Given the description of an element on the screen output the (x, y) to click on. 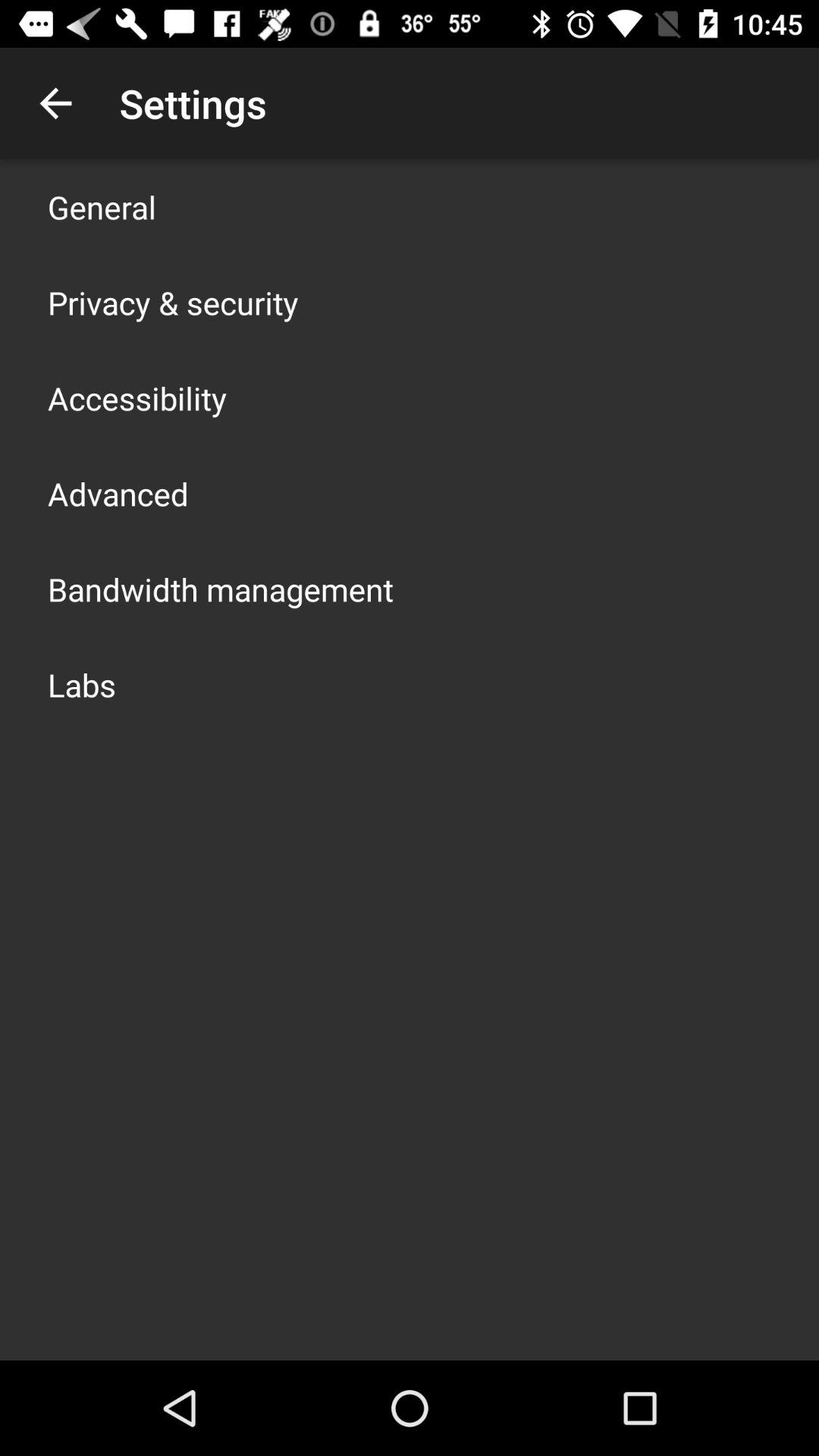
click the app above labs item (220, 588)
